Given the description of an element on the screen output the (x, y) to click on. 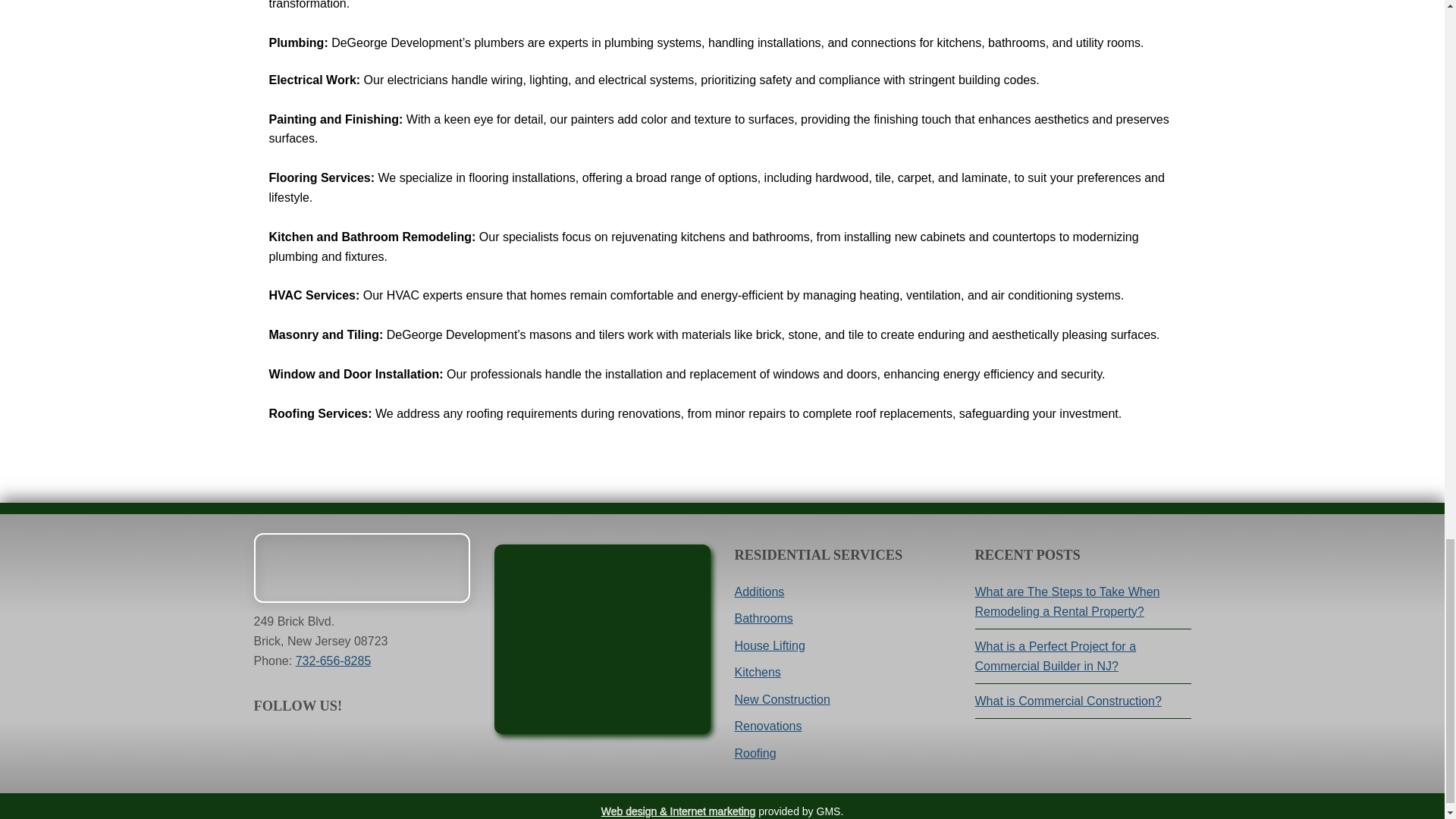
House Lifting (769, 645)
Follow Us on Twitter (328, 744)
Additions (758, 591)
Follow Us on Facebook (265, 744)
Follow Us on YouTube (296, 744)
Bathrooms (762, 617)
Follow Us on Yelp (360, 744)
Kitchens (756, 671)
Follow Us on Alignable (392, 744)
732-656-8285 (333, 660)
